Given the description of an element on the screen output the (x, y) to click on. 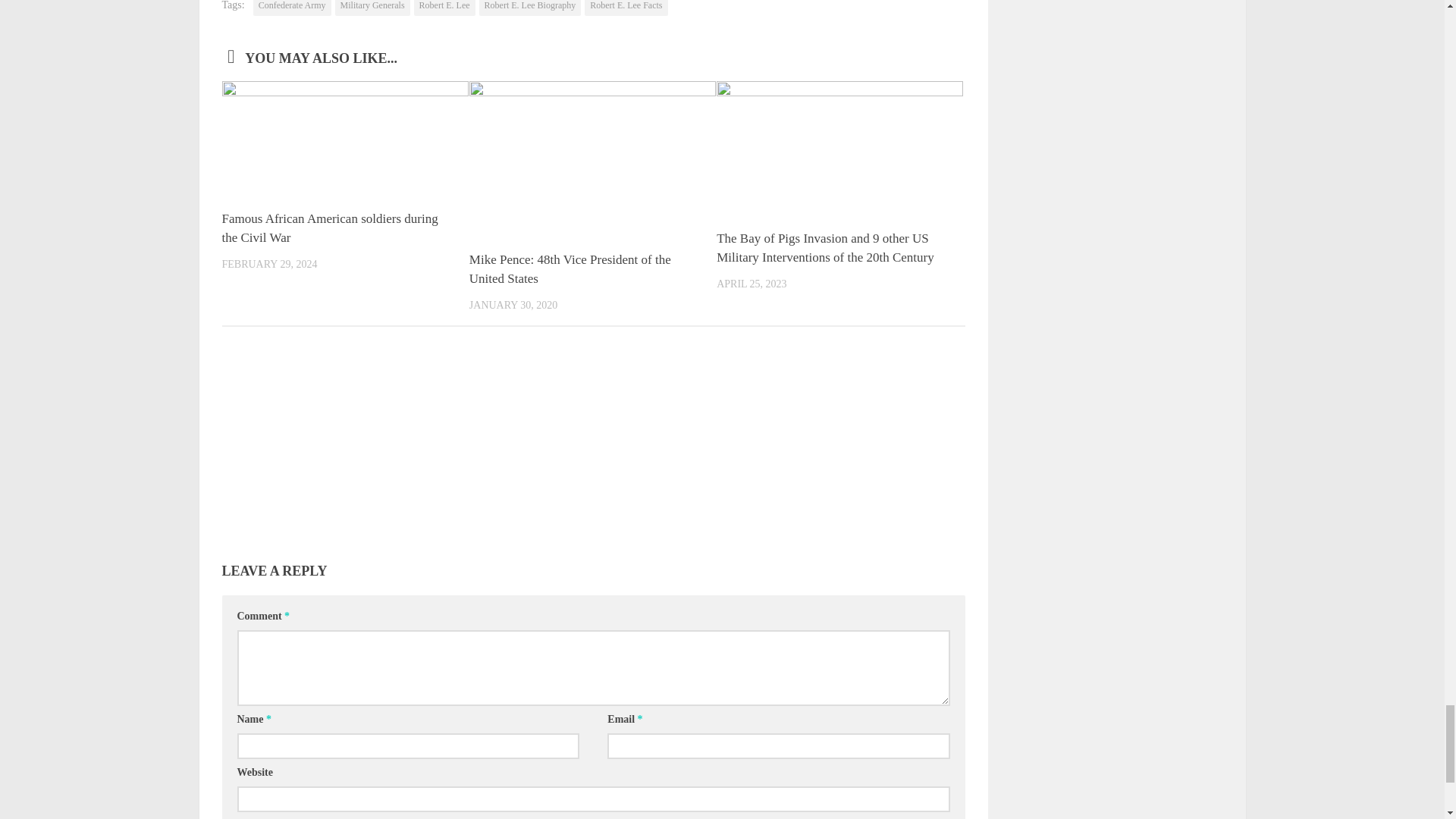
Robert E. Lee Facts (625, 7)
Famous African American soldiers during the Civil War (329, 228)
Robert E. Lee Biography (529, 7)
Robert E. Lee (444, 7)
Confederate Army (292, 7)
Mike Pence: 48th Vice President of the United States (569, 269)
Military Generals (372, 7)
